Given the description of an element on the screen output the (x, y) to click on. 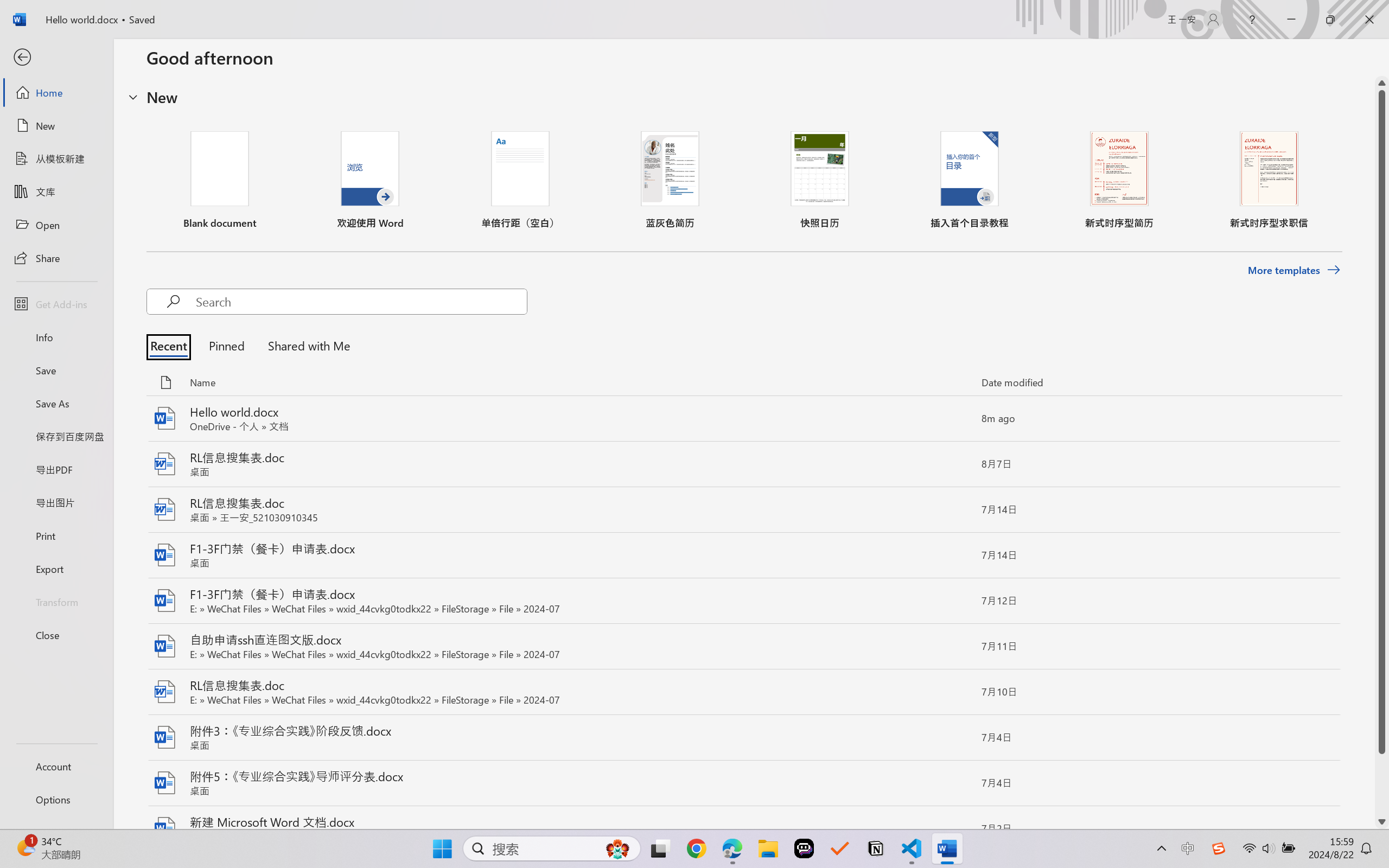
Search (360, 301)
Class: Image (1218, 847)
Share (56, 257)
Account (56, 765)
Hello world.docx (743, 418)
Close (1369, 19)
Class: NetUIScrollBar (1382, 452)
Open (56, 224)
